Given the description of an element on the screen output the (x, y) to click on. 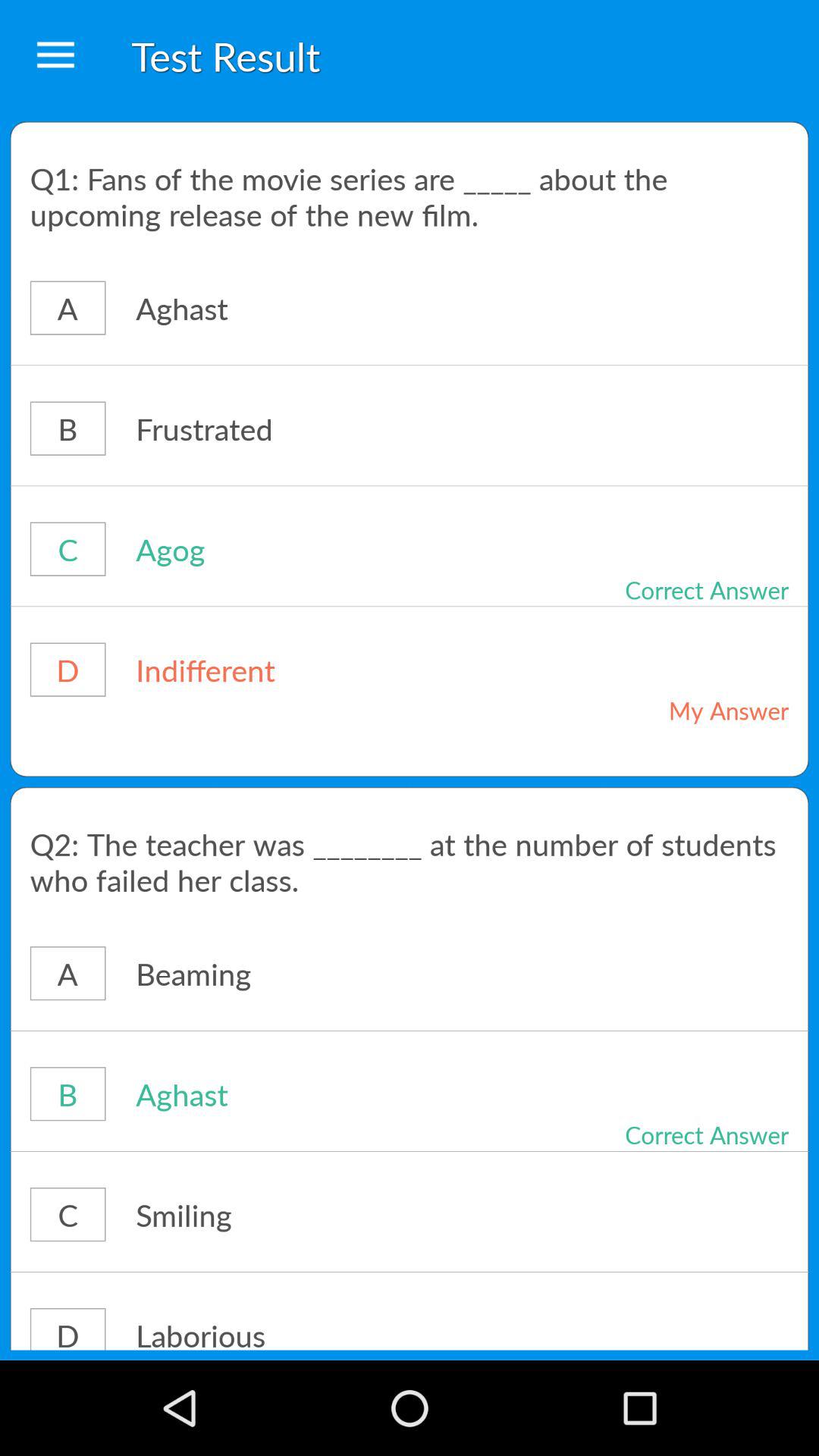
tap the my answer item (674, 709)
